Given the description of an element on the screen output the (x, y) to click on. 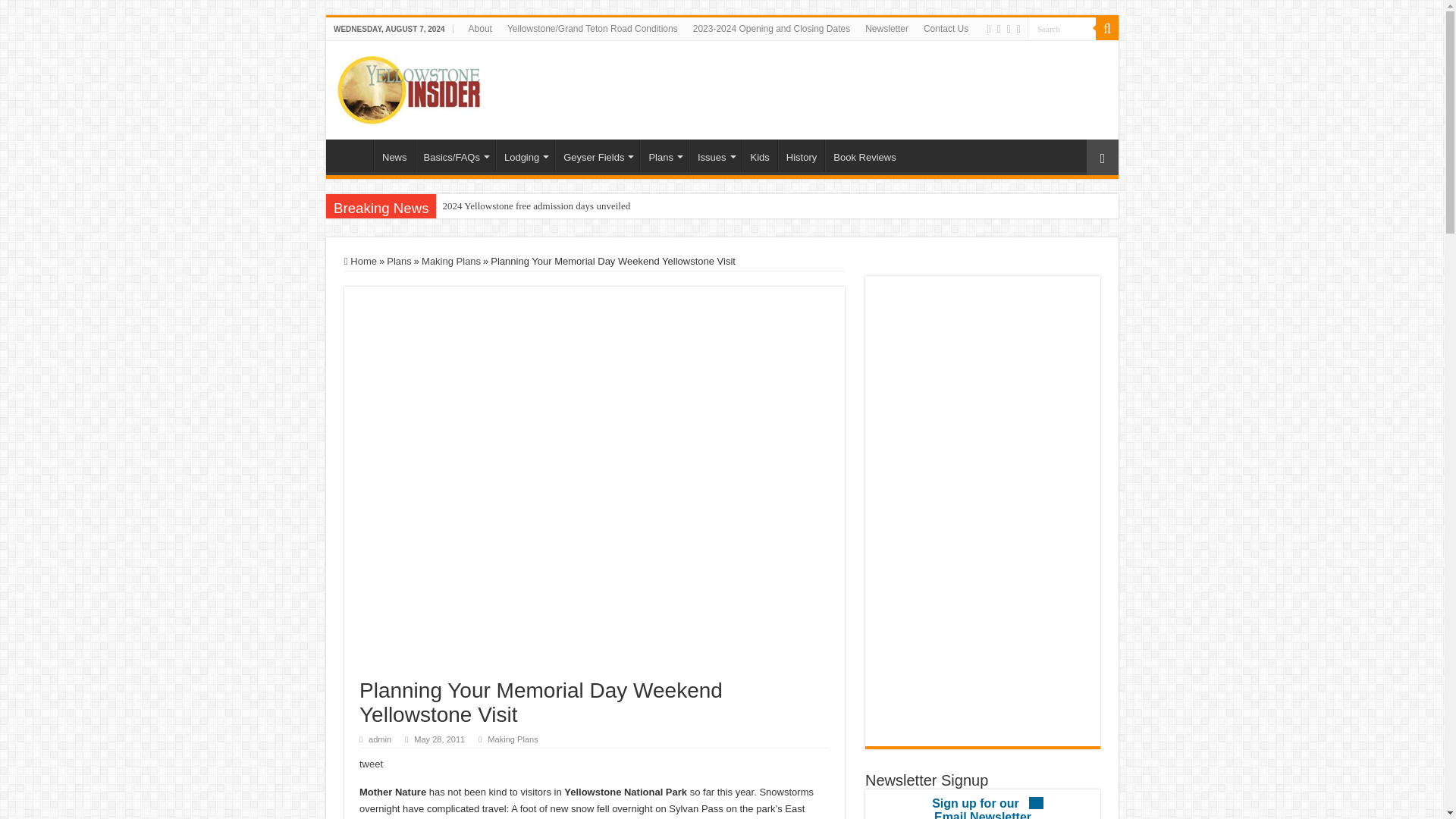
News (394, 155)
2024 Yellowstone free admission days unveiled (576, 206)
Search (1061, 28)
Search (1061, 28)
Search (1061, 28)
Search (1107, 28)
Contact Us (945, 28)
Home (352, 155)
Lodging (525, 155)
Newsletter (886, 28)
Yellowstone Insider (408, 86)
About (480, 28)
Random Article (1102, 157)
2023-2024 Opening and Closing Dates (771, 28)
